Given the description of an element on the screen output the (x, y) to click on. 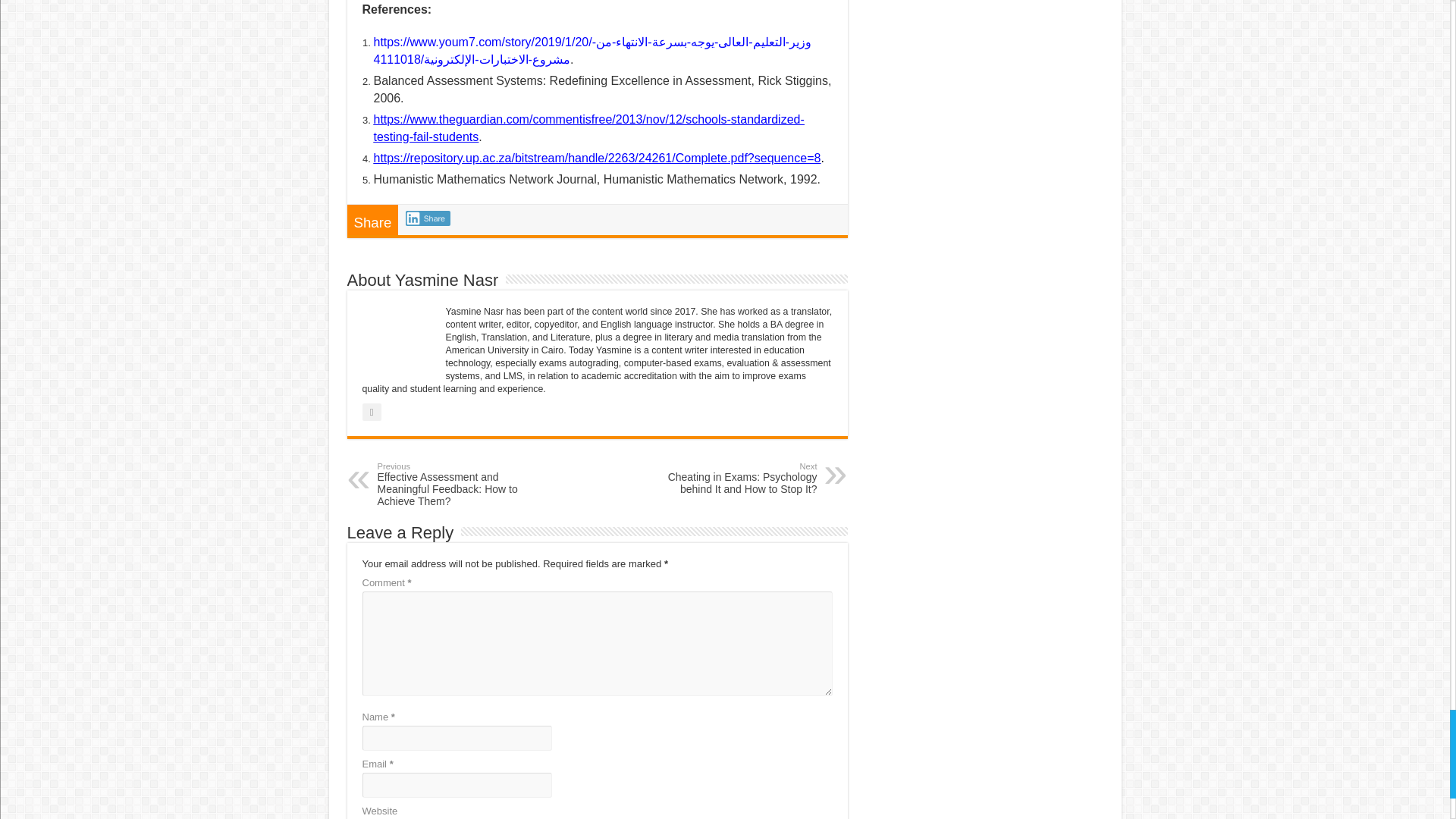
Share (427, 218)
